Given the description of an element on the screen output the (x, y) to click on. 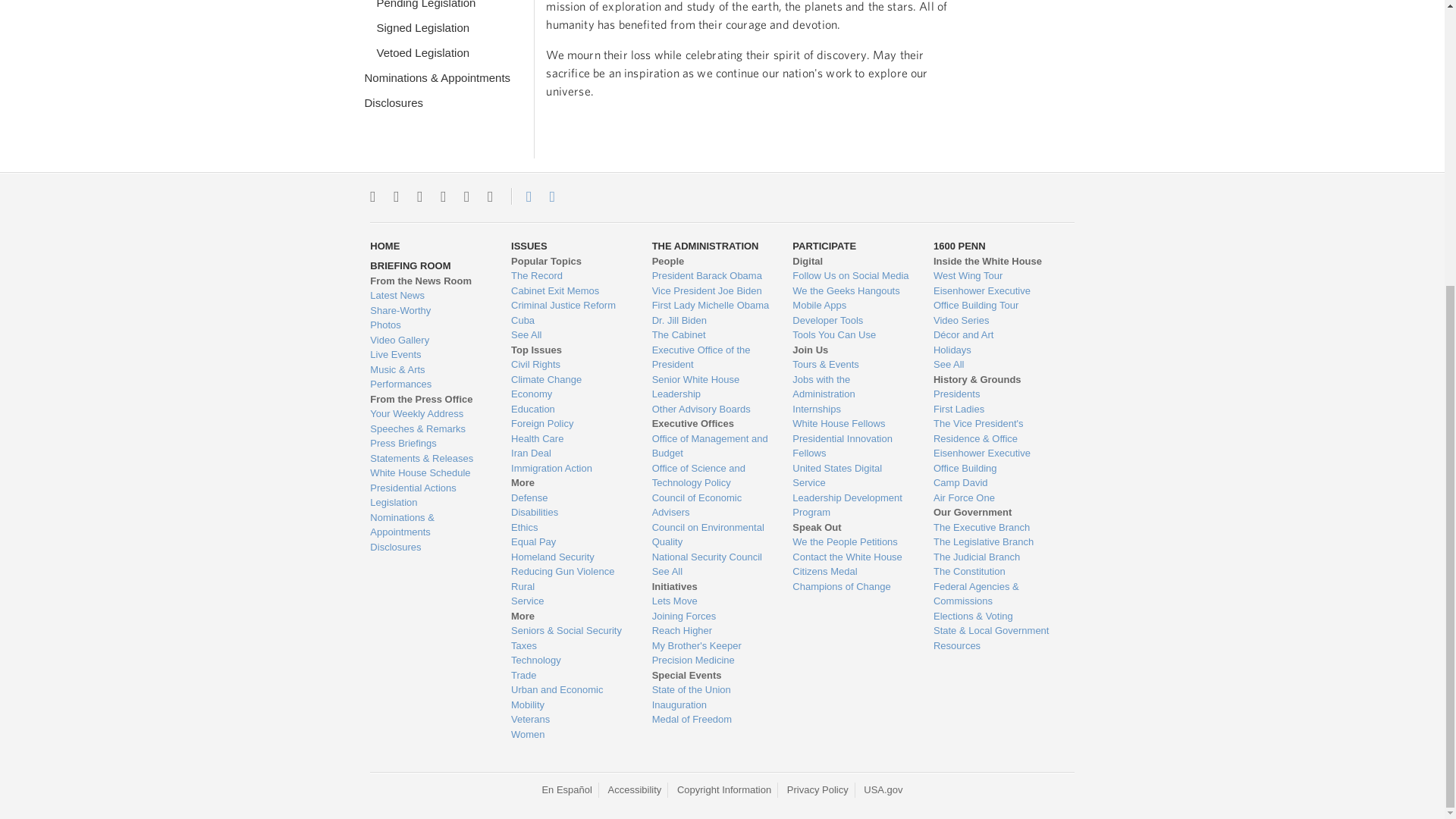
Read the latest blog posts from 1600 Pennsylvania Ave (428, 295)
Contact the Whitehouse. (521, 196)
Check out the most popular infographics and videos (428, 310)
Watch behind-the-scenes videos and more (428, 340)
View the photo of the day and other galleries (428, 324)
